Given the description of an element on the screen output the (x, y) to click on. 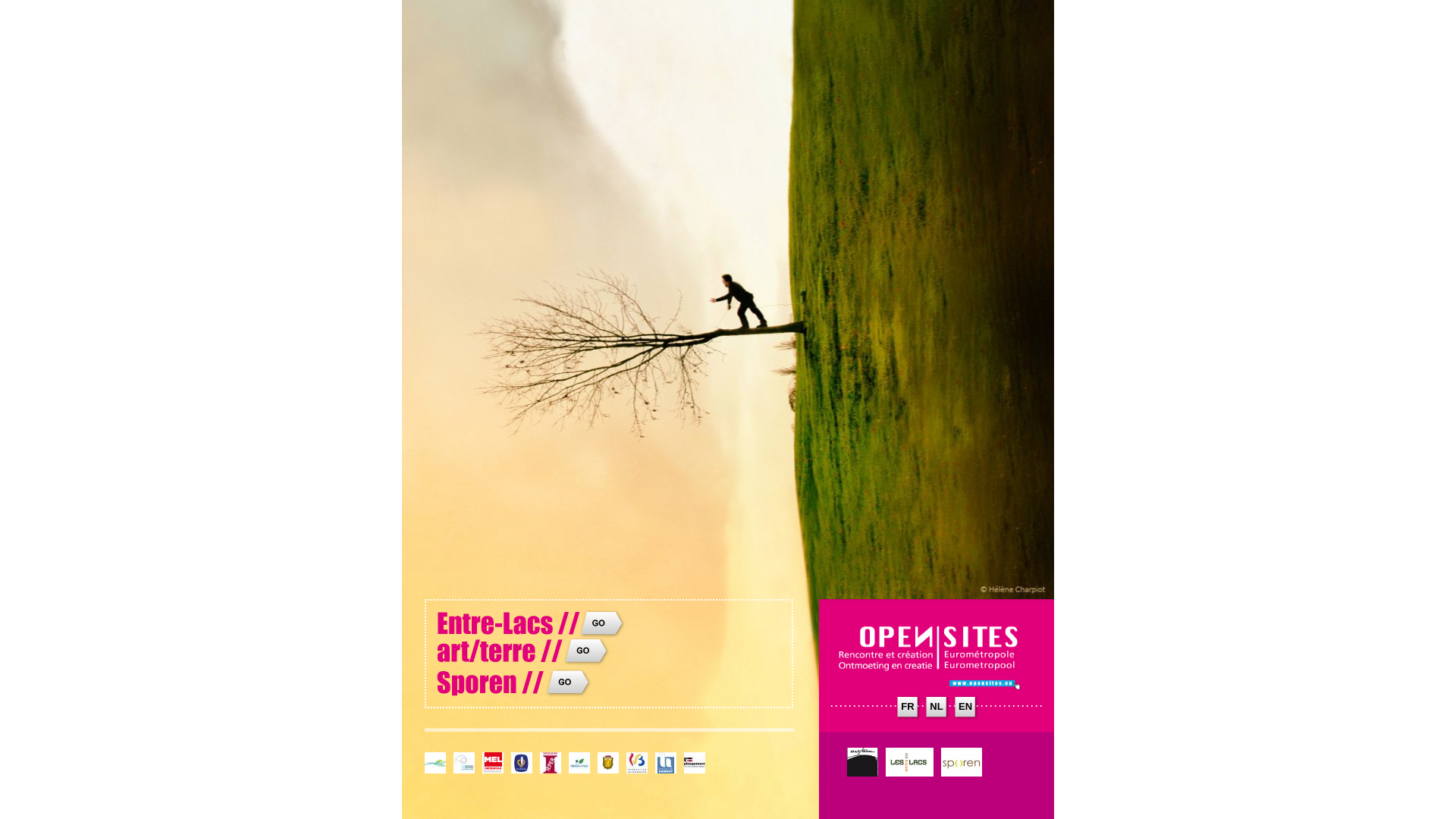
Entre-Lacs Element type: hover (530, 633)
art/terre Element type: hover (530, 664)
